Given the description of an element on the screen output the (x, y) to click on. 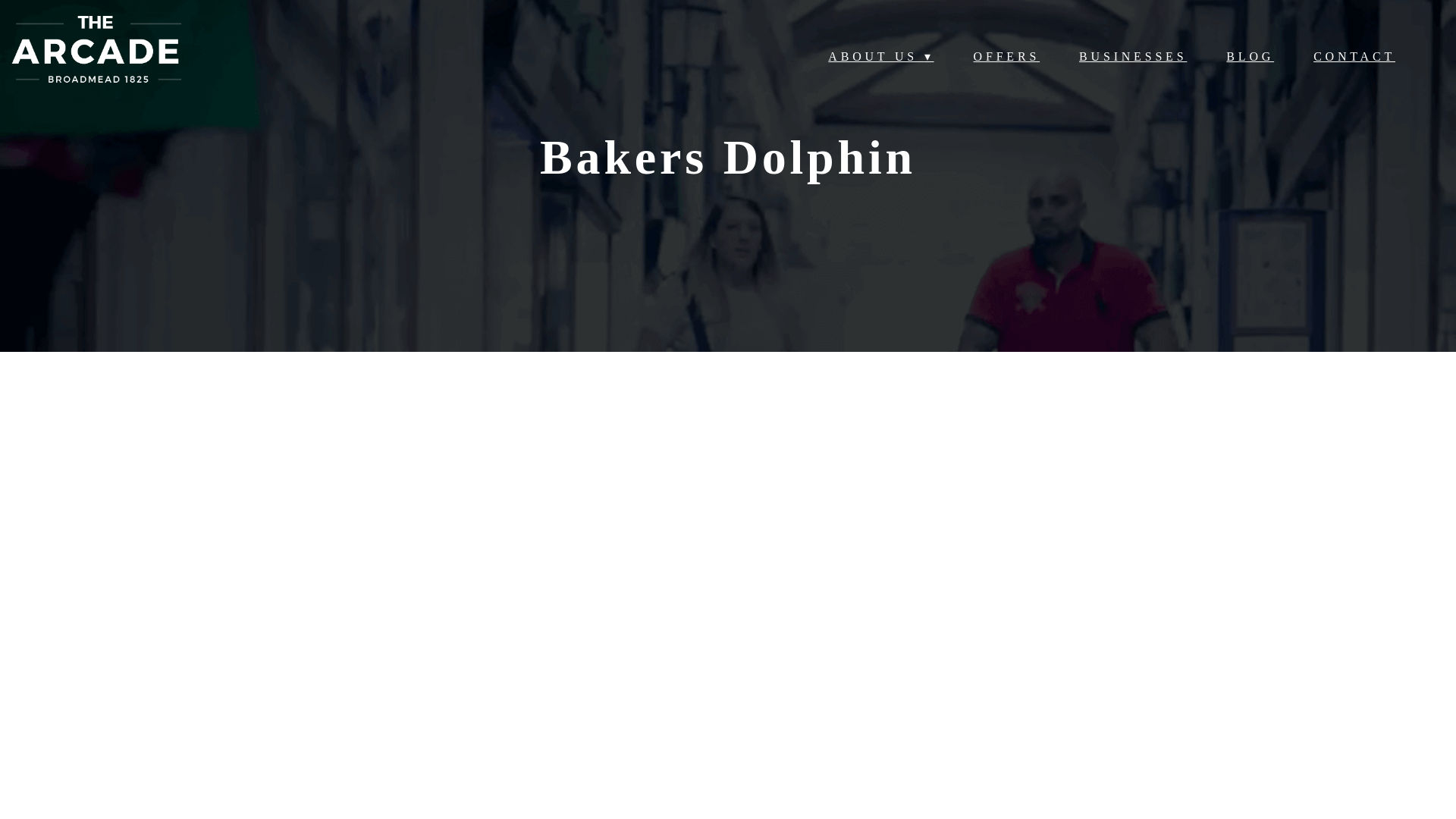
CONTACT (1353, 56)
OFFERS (1007, 56)
BUSINESSES (1132, 56)
BLOG (1249, 56)
